Given the description of an element on the screen output the (x, y) to click on. 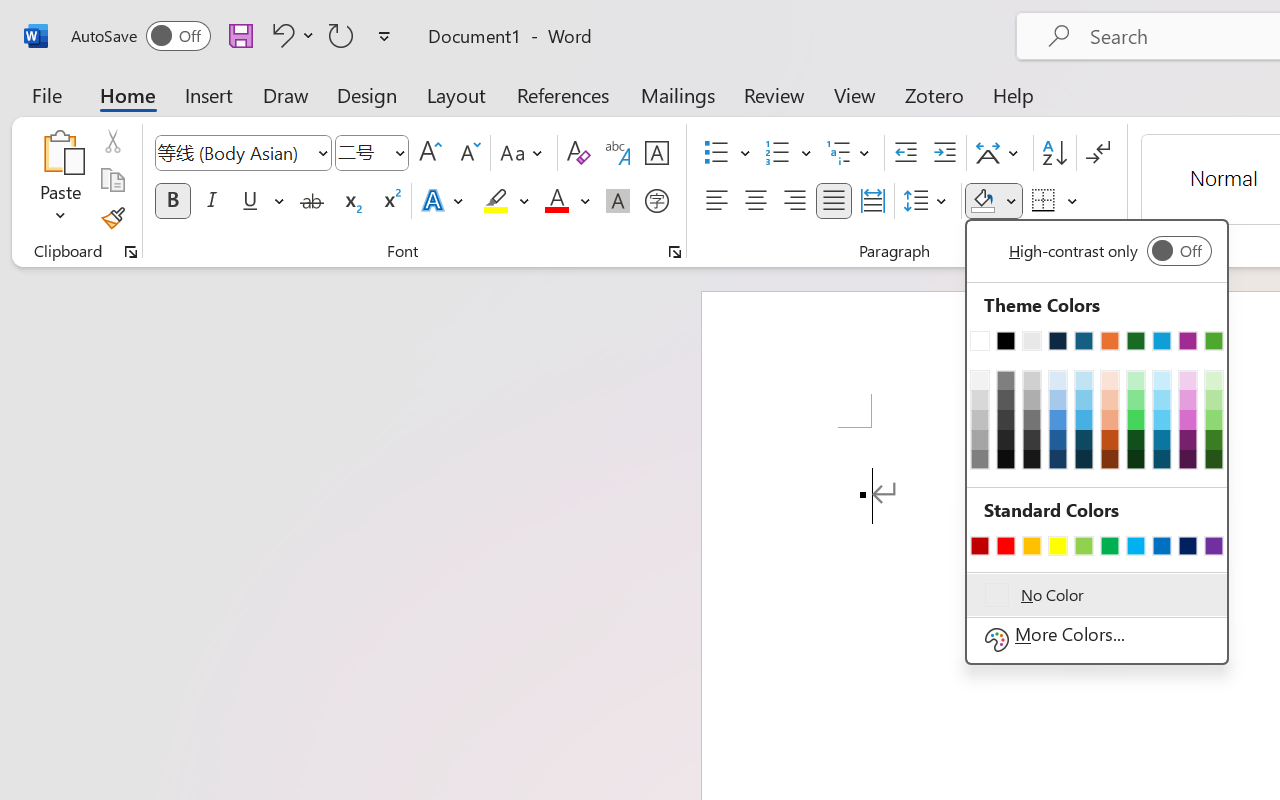
Shading No Color (982, 201)
